Given the description of an element on the screen output the (x, y) to click on. 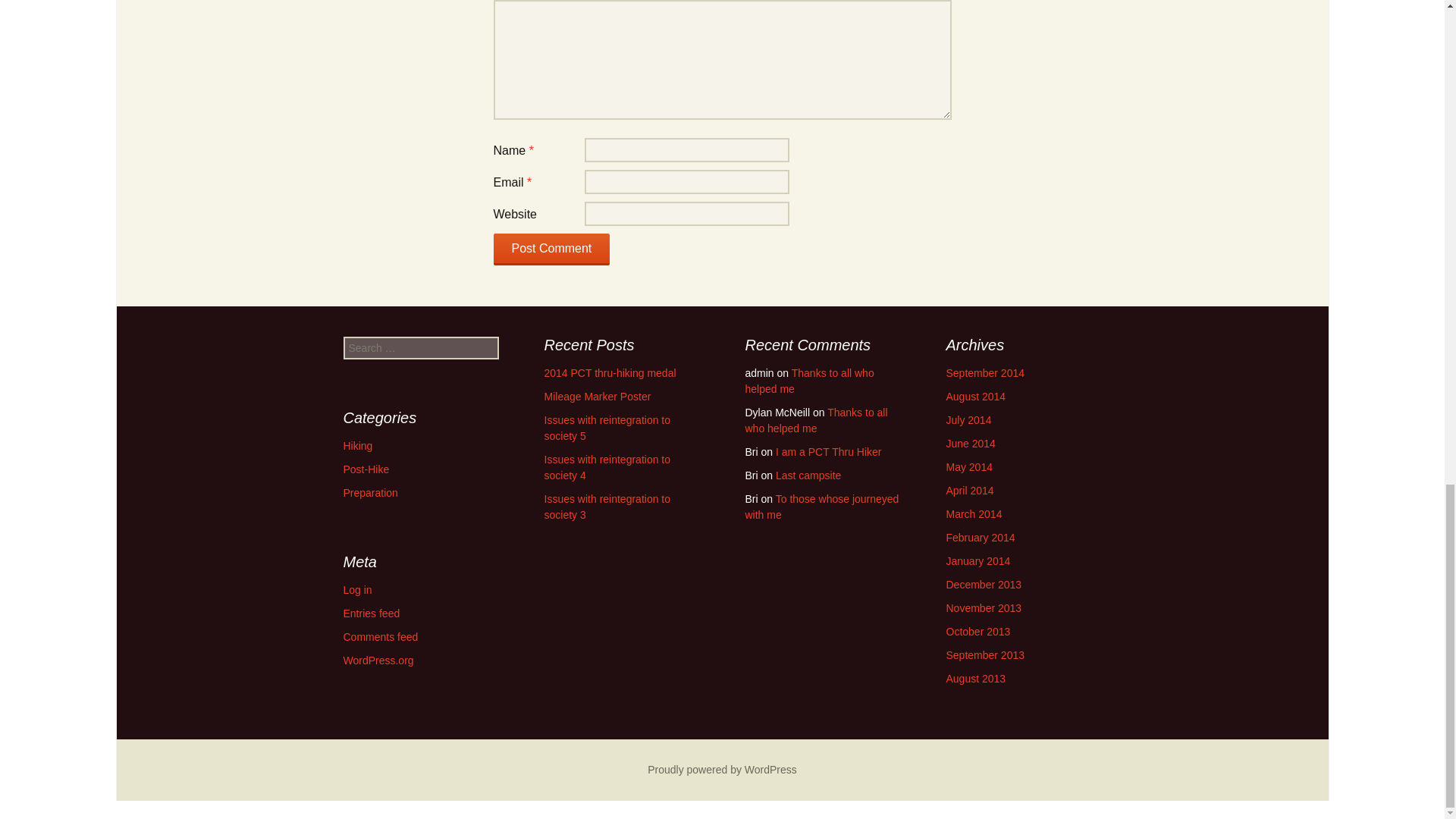
2014 PCT thru-hiking medal (610, 372)
May 2014 (969, 467)
Issues with reintegration to society 4 (607, 467)
July 2014 (968, 419)
June 2014 (970, 443)
I am a PCT Thru Hiker (829, 451)
Post Comment (551, 249)
December 2013 (984, 584)
Thanks to all who helped me (815, 420)
November 2013 (984, 607)
Mileage Marker Poster (597, 396)
January 2014 (978, 561)
To those whose journeyed with me (821, 506)
Thanks to all who helped me (808, 380)
August 2014 (976, 396)
